Given the description of an element on the screen output the (x, y) to click on. 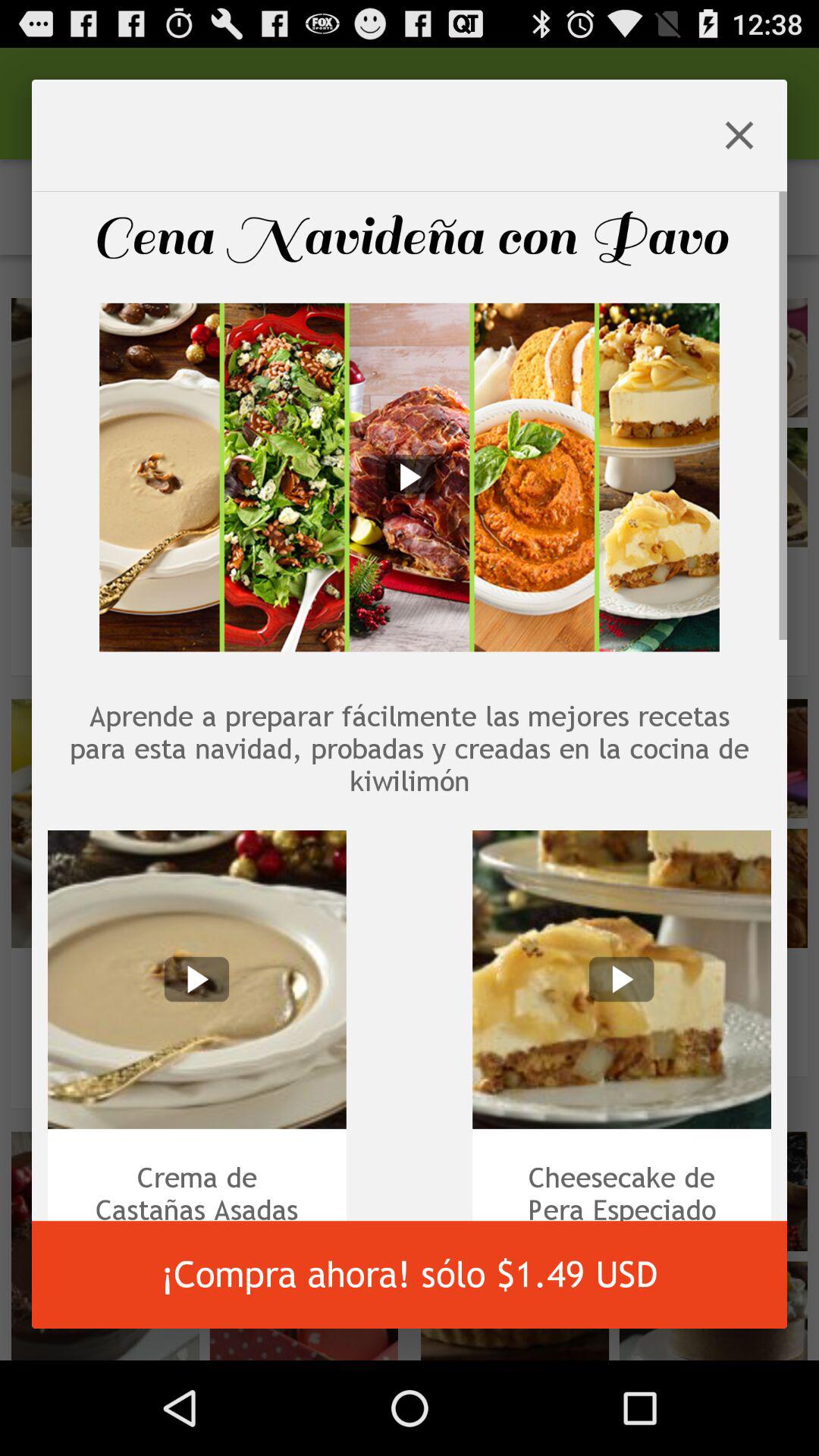
choose the icon at the top right corner (739, 135)
